Given the description of an element on the screen output the (x, y) to click on. 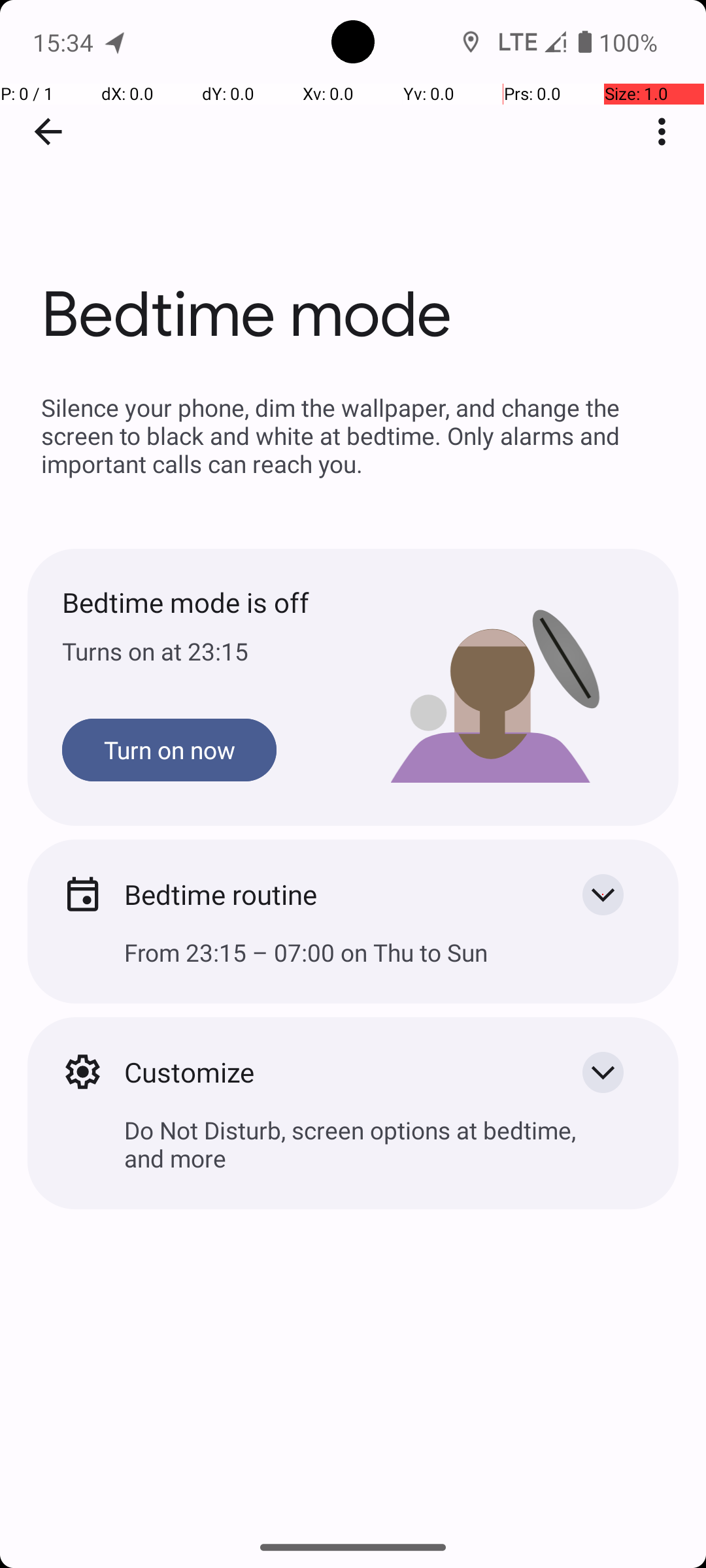
Bedtime mode Element type: android.widget.FrameLayout (353, 195)
Silence your phone, dim the wallpaper, and change the screen to black and white at bedtime. Only alarms and important calls can reach you. Element type: android.widget.TextView (352, 435)
Bedtime mode is off Element type: android.widget.TextView (207, 601)
Turns on at 23:15 Element type: android.widget.TextView (207, 650)
Turn on now Element type: android.widget.Button (169, 749)
Bedtime routine Element type: android.widget.TextView (332, 893)
Expand the card Bedtime routine Element type: android.widget.ImageView (602, 894)
From 23:15 – 07:00 on Thu to Sun Element type: android.widget.TextView (352, 962)
